Given the description of an element on the screen output the (x, y) to click on. 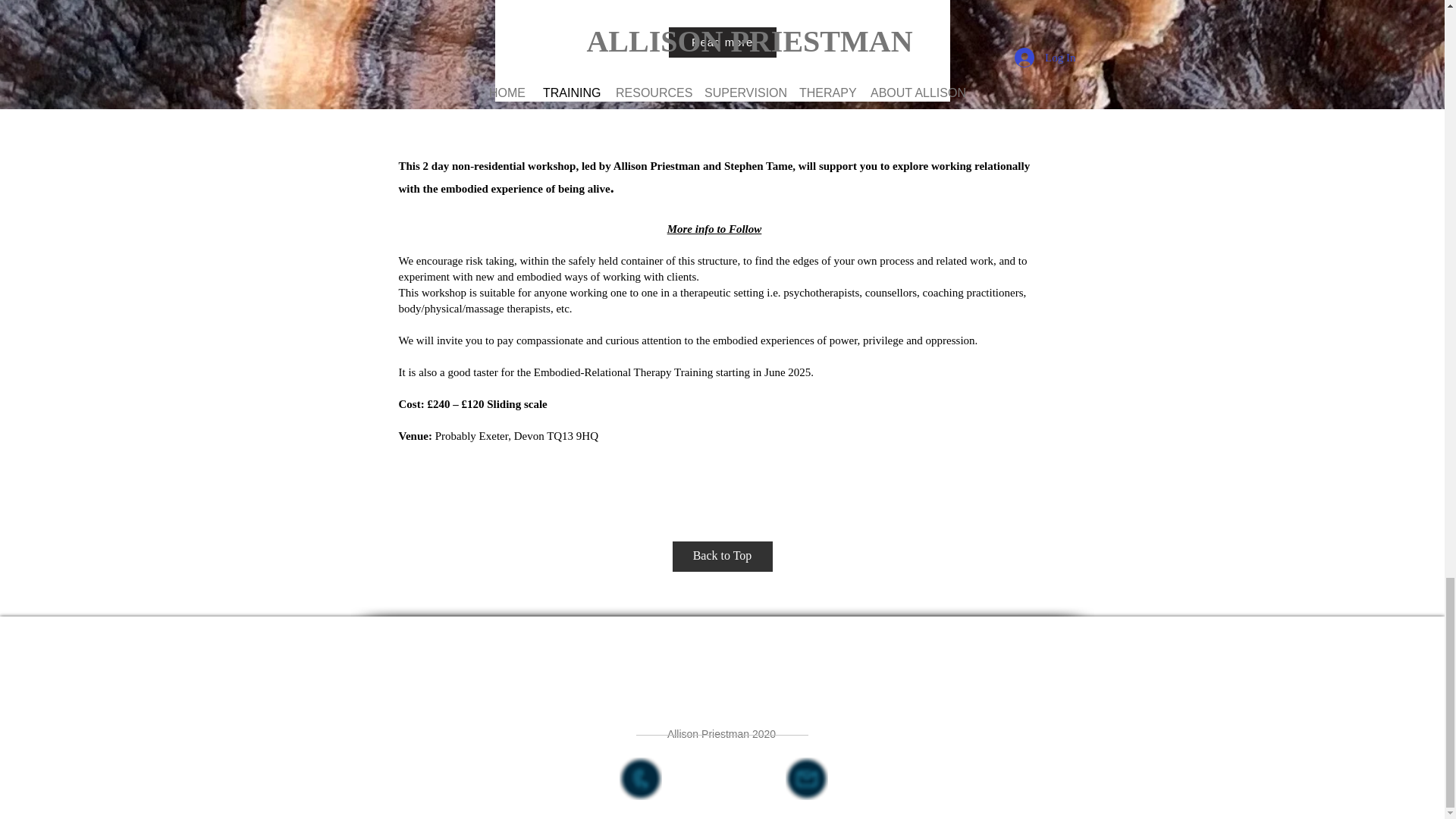
Read more (722, 42)
Back to Top (721, 556)
More info to Follow (713, 228)
